Given the description of an element on the screen output the (x, y) to click on. 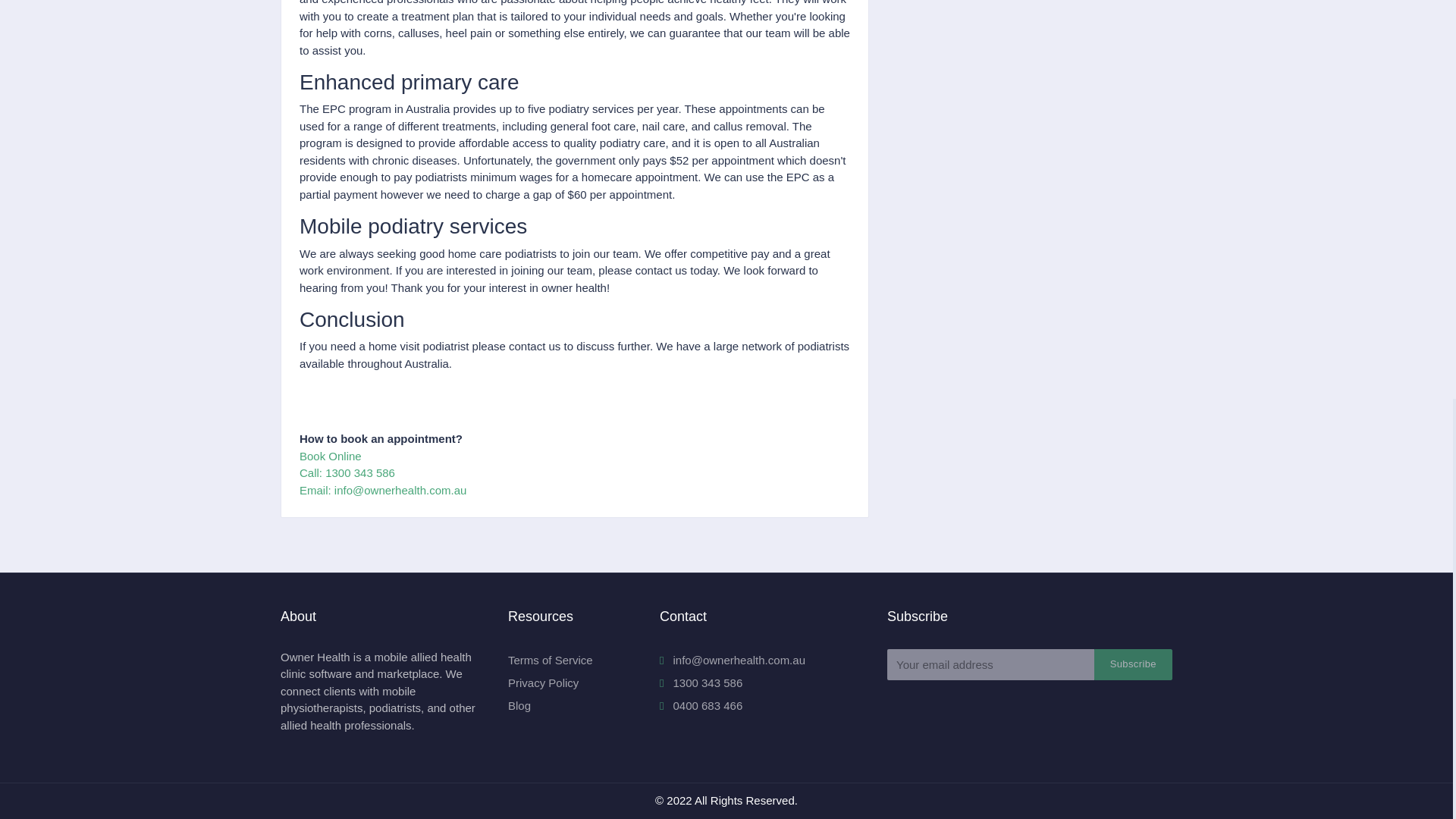
Book Online (330, 455)
Subscribe (1133, 664)
0400 683 466 (700, 705)
Call: 1300 343 586 (346, 472)
Privacy Policy (543, 682)
Blog (519, 705)
Terms of Service (550, 659)
1300 343 586 (700, 682)
